Given the description of an element on the screen output the (x, y) to click on. 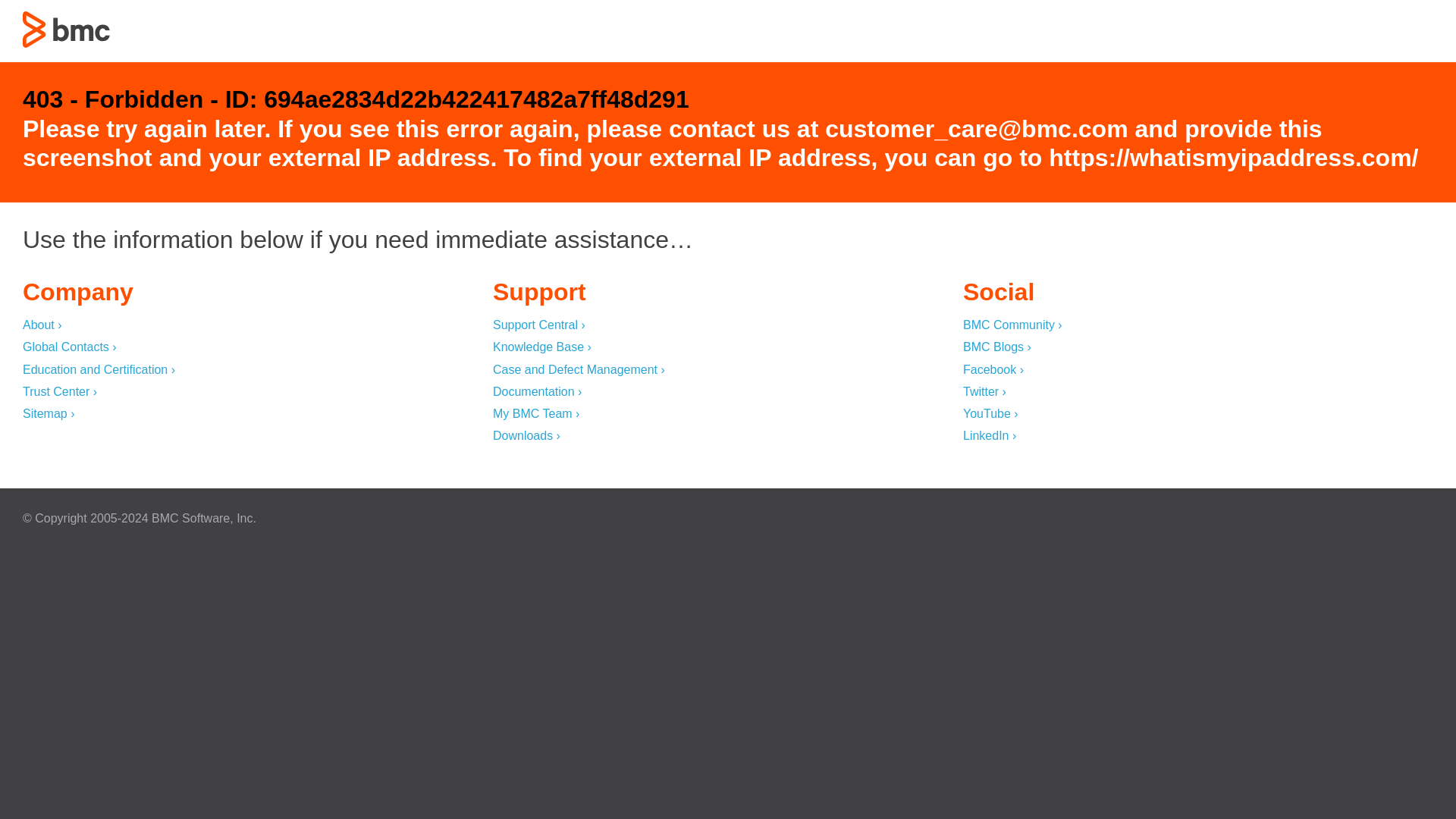
403 - Forbidden (66, 29)
